Given the description of an element on the screen output the (x, y) to click on. 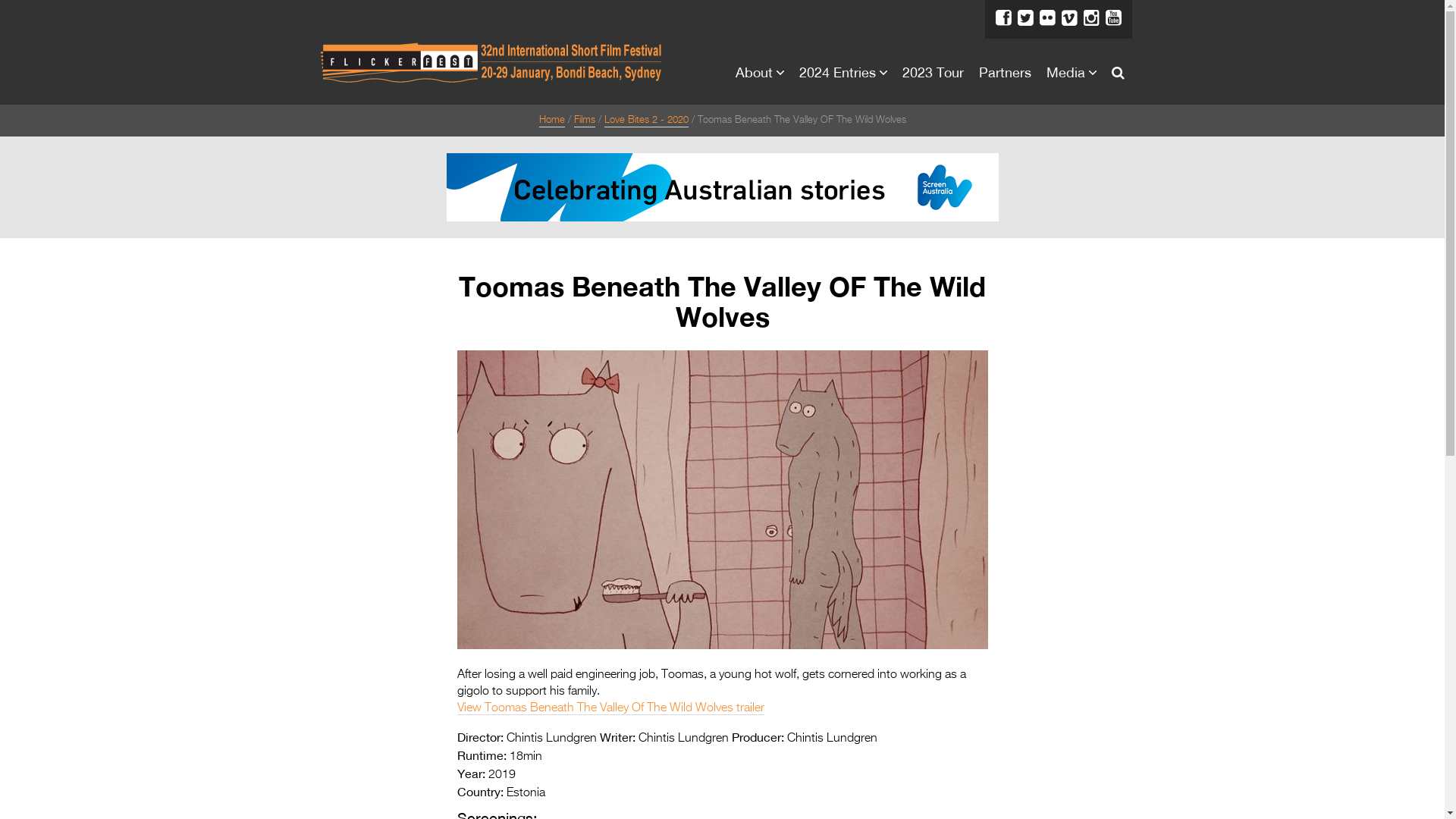
Festival Archive Element type: text (1335, 283)
Partners Element type: text (1297, 471)
Open full size image in a new window/tab Element type: hover (721, 646)
Partners Element type: text (1004, 71)
Team Element type: text (1303, 221)
Flickerfest on Flickr Element type: hover (1046, 18)
Specsavers Comp Element type: text (1345, 408)
News Element type: text (1303, 189)
Flickerfest on Instagram Element type: hover (1346, 23)
Flickerfest on Vimeo Element type: hover (1329, 23)
Flickerfest on Facebook Element type: hover (1002, 18)
Directors Welcome Element type: text (1346, 158)
Films Element type: text (583, 120)
Flickerfest on Flickr Element type: hover (1312, 23)
2024 Entries Element type: text (1311, 346)
2023 Tour Element type: text (1303, 439)
Flickerfest on Twitter Element type: hover (1025, 18)
Flickerfest on Vimeo Element type: hover (1069, 18)
Flickerfest on Youtube Element type: hover (1364, 23)
About Element type: text (753, 71)
Contact Us Element type: text (1322, 315)
Love Bites 2 - 2020 Element type: text (645, 120)
Festival Credits Element type: text (1334, 252)
Home Element type: text (551, 120)
Flickerfest on Twitter Element type: hover (1294, 23)
2024 Entries Element type: text (1326, 377)
Photo Gallery Element type: text (1329, 563)
Media Element type: text (1289, 503)
Flickerfest on Youtube Element type: hover (1113, 18)
Flickerfest on Instagram Element type: hover (1090, 18)
Flickerfest on Facebook Element type: hover (1277, 23)
Media Element type: text (1065, 71)
2024 Entries Element type: text (837, 71)
About Element type: text (1304, 126)
2023 Tour Element type: text (932, 71)
Press Releases Element type: text (1335, 532)
View Toomas Beneath The Valley Of The Wild Wolves trailer Element type: text (609, 708)
About Element type: text (1289, 96)
